Given the description of an element on the screen output the (x, y) to click on. 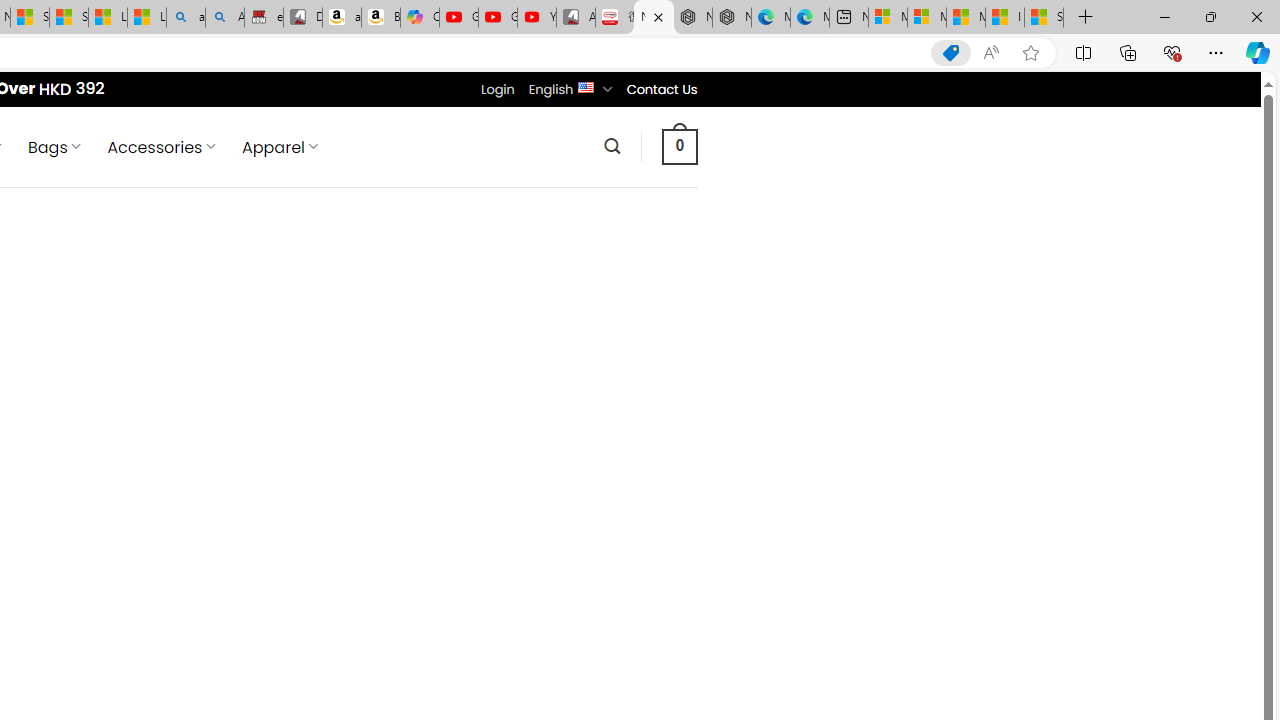
Nordace - Contact Us (653, 17)
English (586, 86)
